Given the description of an element on the screen output the (x, y) to click on. 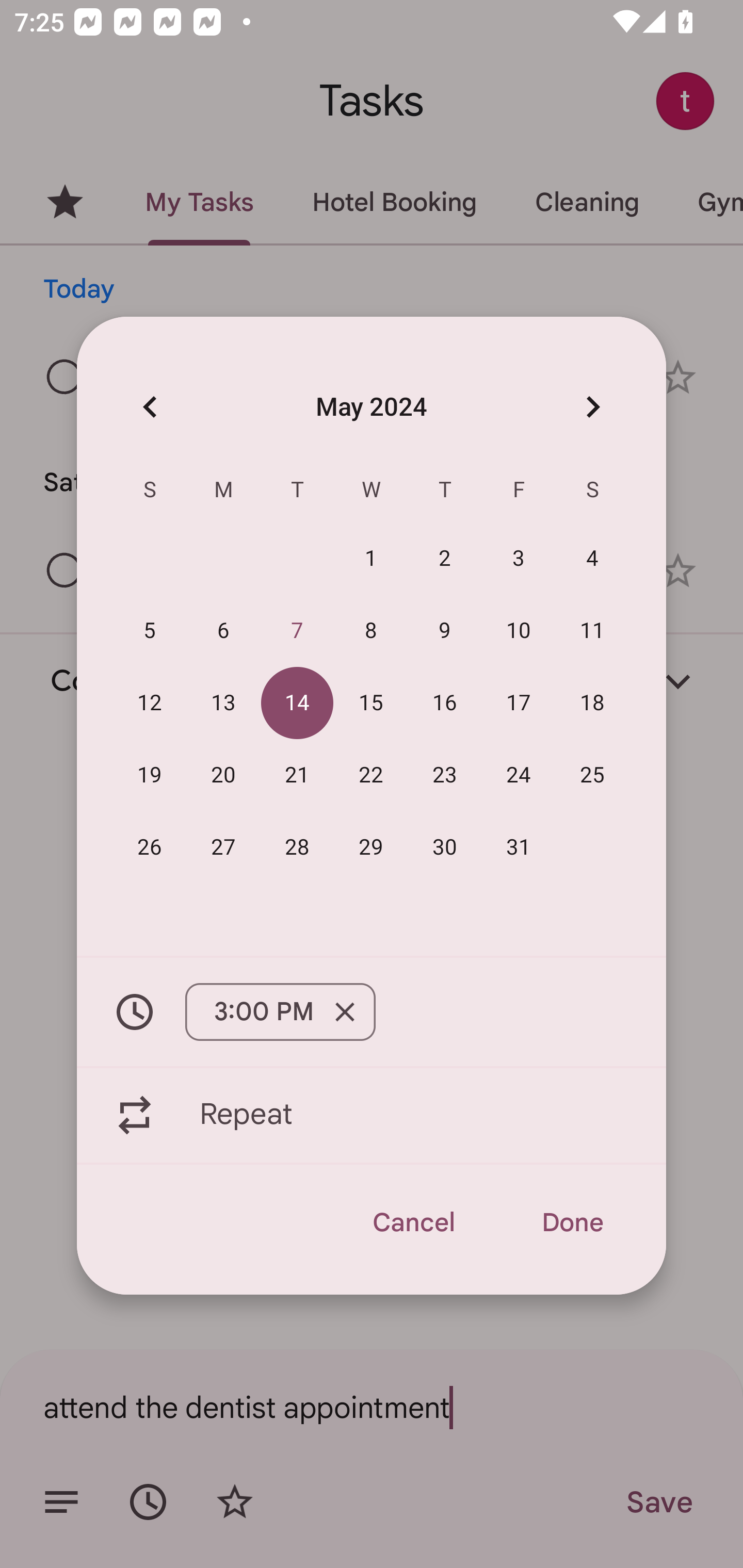
Previous month (149, 406)
Next month (592, 406)
1 01 May 2024 (370, 558)
2 02 May 2024 (444, 558)
3 03 May 2024 (518, 558)
4 04 May 2024 (592, 558)
5 05 May 2024 (149, 630)
6 06 May 2024 (223, 630)
7 07 May 2024 (297, 630)
8 08 May 2024 (370, 630)
9 09 May 2024 (444, 630)
10 10 May 2024 (518, 630)
11 11 May 2024 (592, 630)
12 12 May 2024 (149, 702)
13 13 May 2024 (223, 702)
14 14 May 2024 (297, 702)
15 15 May 2024 (370, 702)
16 16 May 2024 (444, 702)
17 17 May 2024 (518, 702)
18 18 May 2024 (592, 702)
19 19 May 2024 (149, 774)
20 20 May 2024 (223, 774)
21 21 May 2024 (297, 774)
22 22 May 2024 (370, 774)
23 23 May 2024 (444, 774)
24 24 May 2024 (518, 774)
25 25 May 2024 (592, 774)
26 26 May 2024 (149, 846)
27 27 May 2024 (223, 846)
28 28 May 2024 (297, 846)
29 29 May 2024 (370, 846)
30 30 May 2024 (444, 846)
31 31 May 2024 (518, 846)
3:00 PM Remove 3:00 PM (371, 1012)
3:00 PM Remove 3:00 PM (280, 1012)
Repeat (371, 1114)
Cancel (412, 1222)
Done (571, 1222)
